Given the description of an element on the screen output the (x, y) to click on. 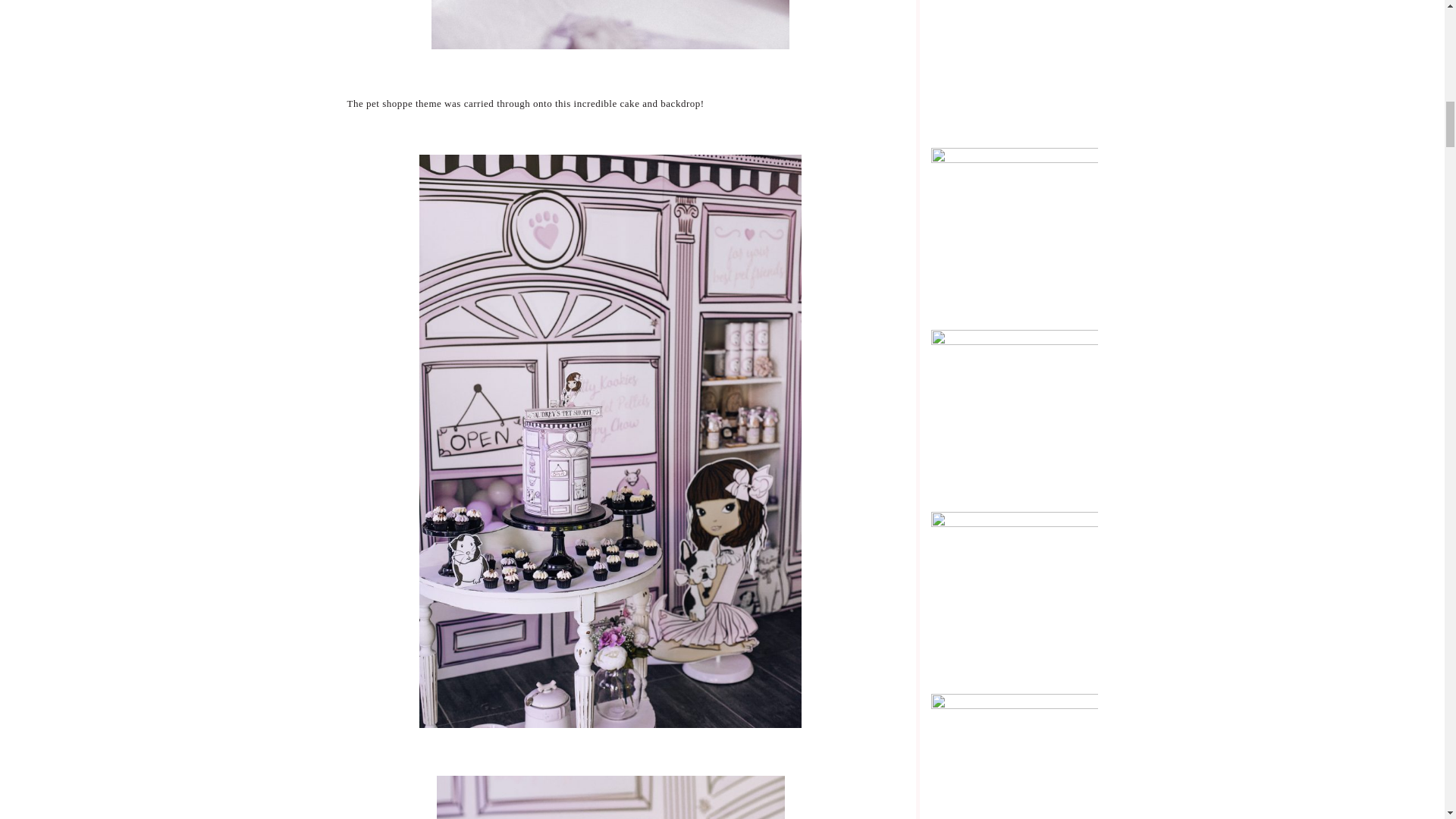
Stacey Rose Illustrations (1014, 411)
Iklektik Ink (1014, 48)
Le Petite Kids Tea and Spa (1014, 593)
Luxe Dream Event (1014, 776)
Slumber Club (1014, 229)
